Given the description of an element on the screen output the (x, y) to click on. 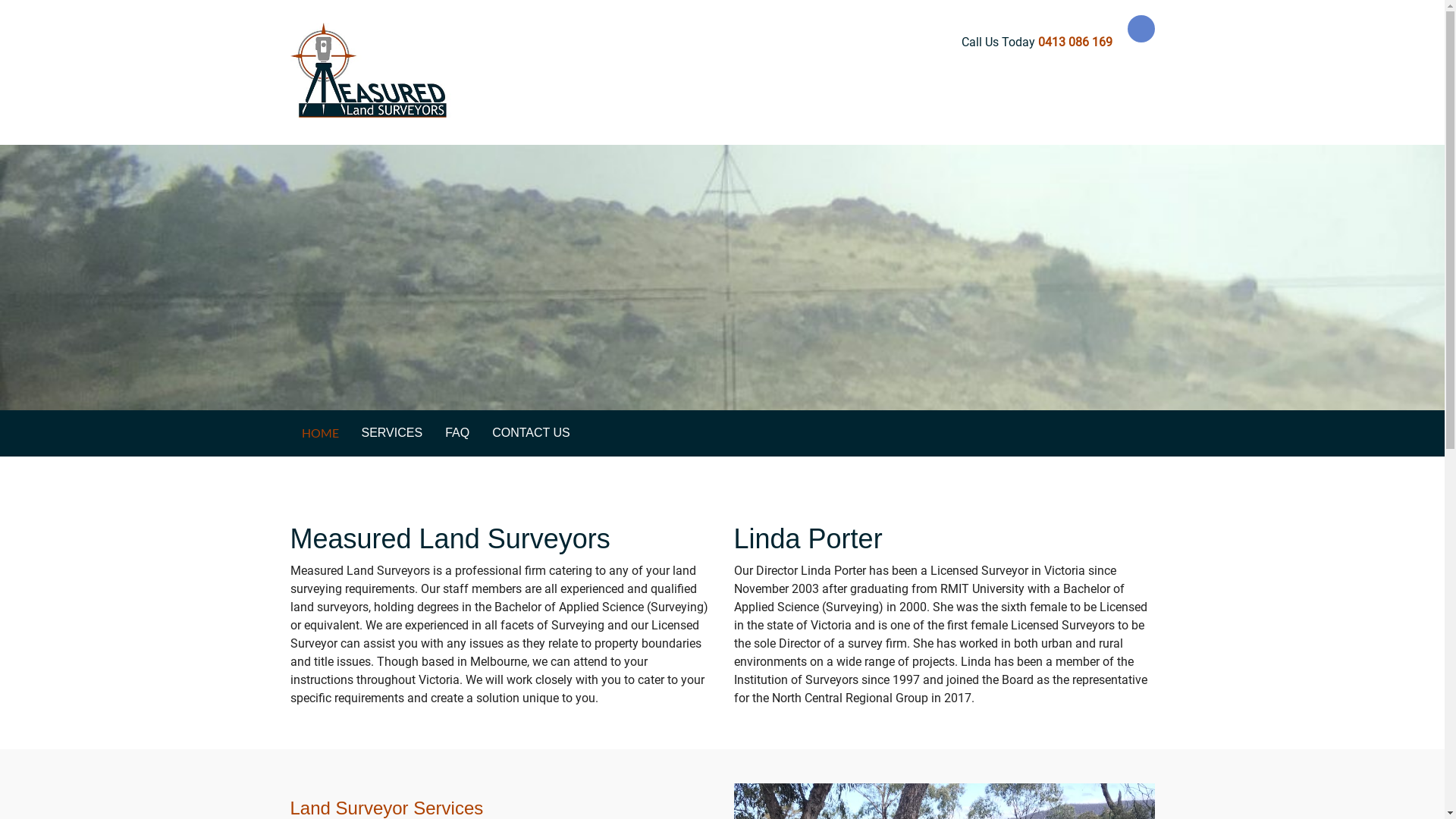
CONTACT US Element type: text (530, 432)
SERVICES Element type: text (392, 432)
FAQ Element type: text (456, 432)
HOME Element type: text (319, 432)
Measured Land Surveyors Element type: hover (371, 69)
